Given the description of an element on the screen output the (x, y) to click on. 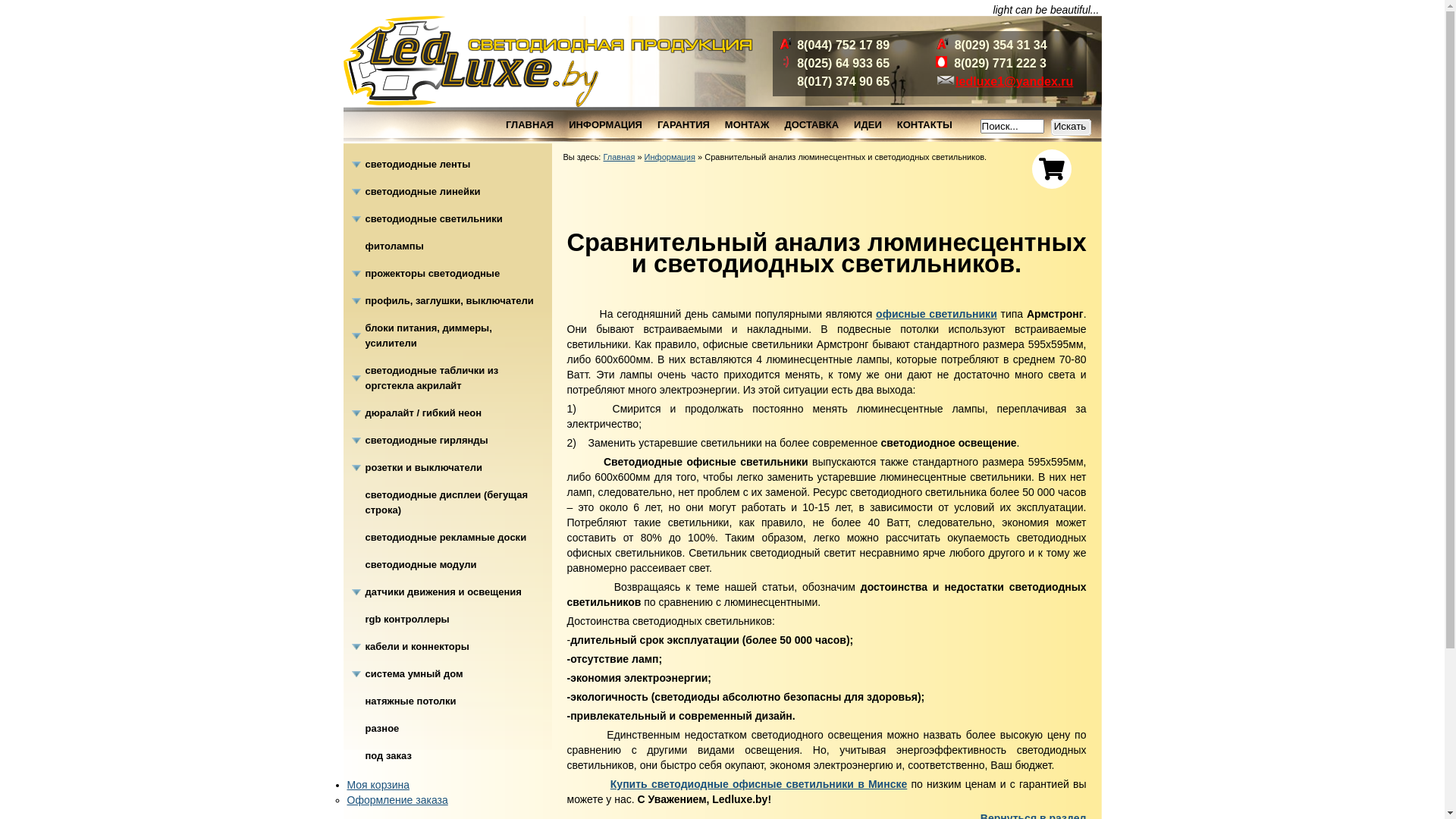
ledluxe1@yandex.ru Element type: text (1014, 81)
